Given the description of an element on the screen output the (x, y) to click on. 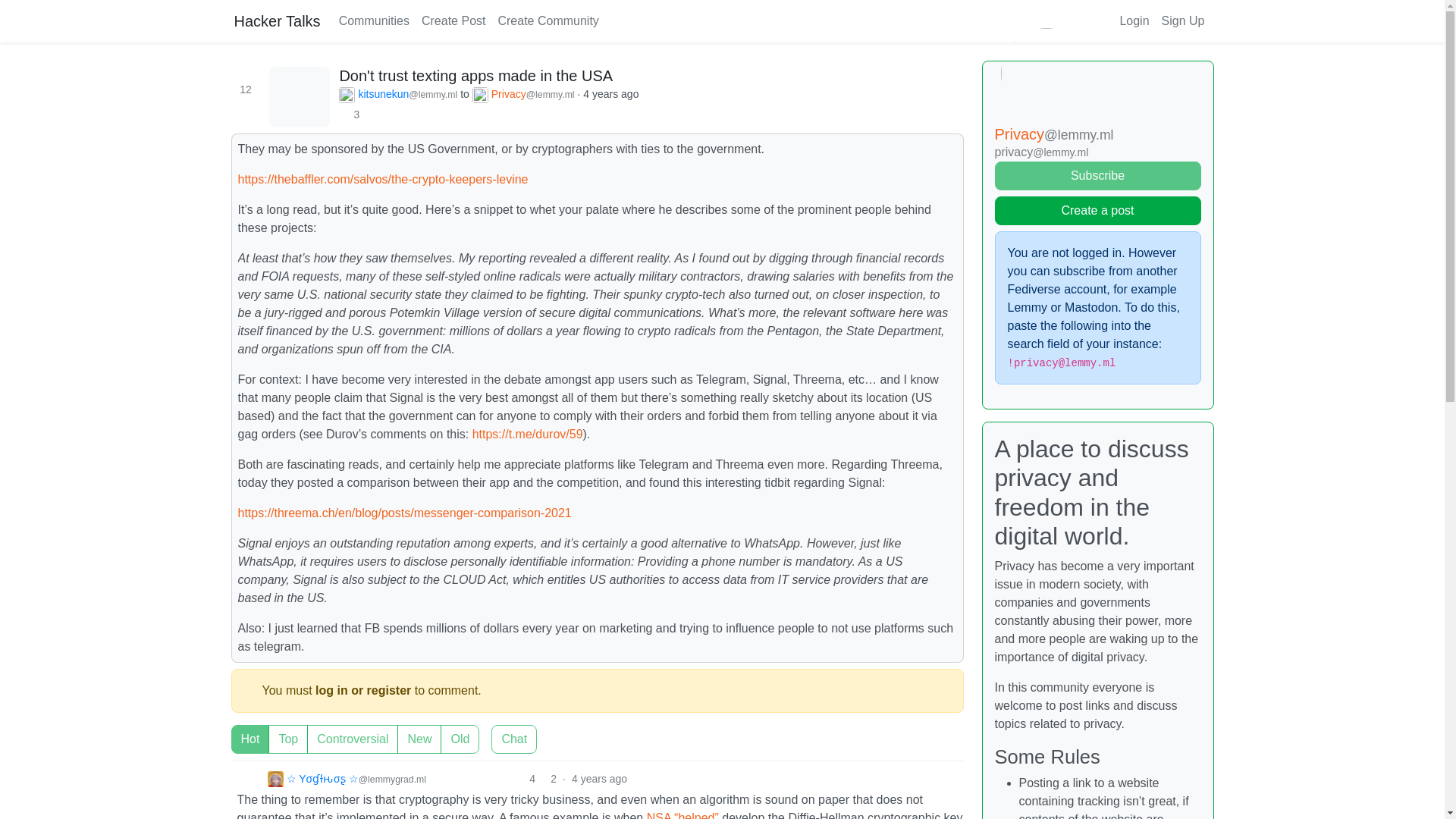
3 (352, 114)
Create Community (548, 20)
Place for hackers to talk (276, 20)
kitsunekun (398, 94)
1 (496, 729)
Controversial (235, 729)
log in or register (362, 689)
Create Community (548, 20)
Top (235, 729)
Hot (235, 729)
